Given the description of an element on the screen output the (x, y) to click on. 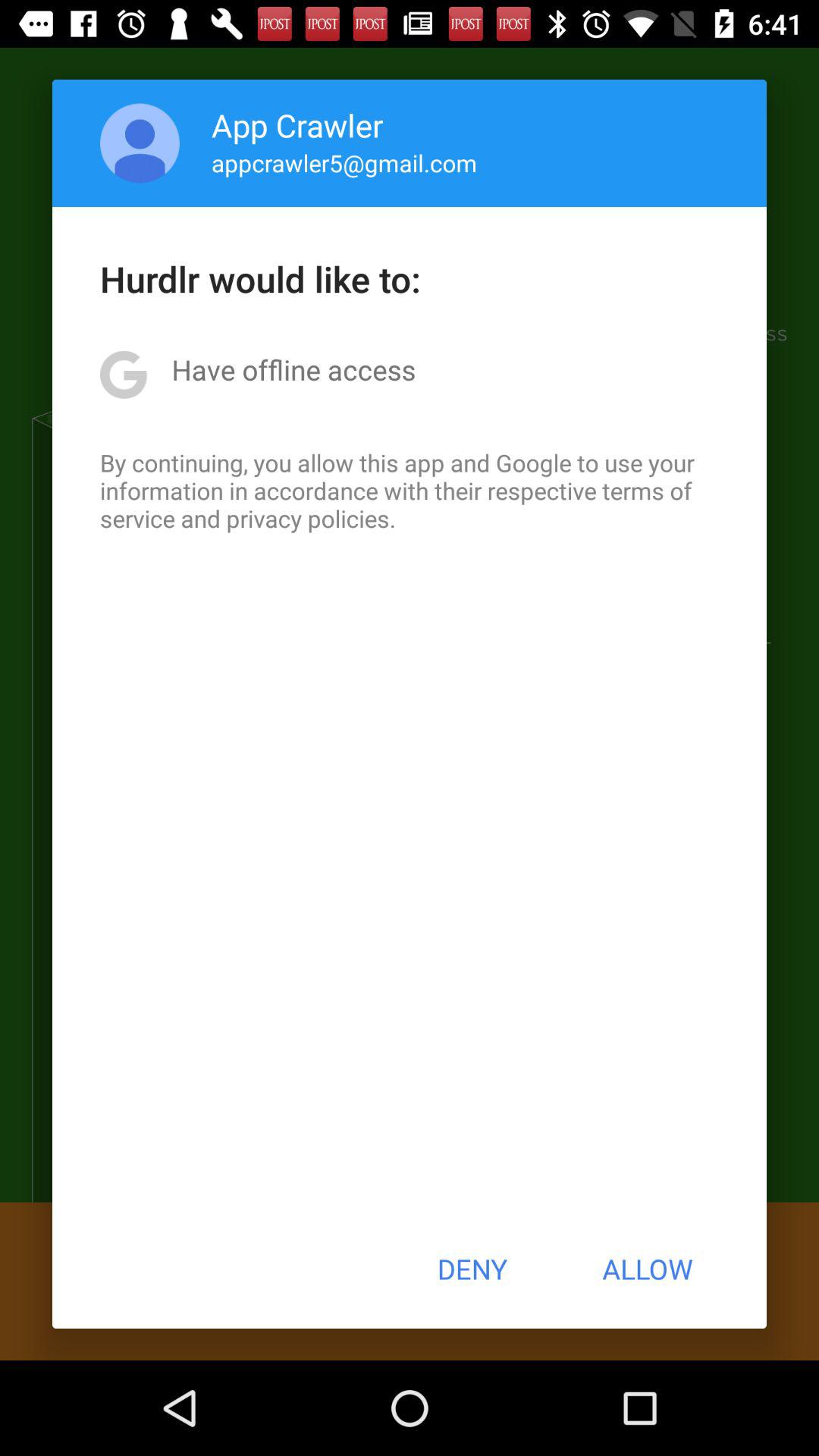
flip to the deny (471, 1268)
